Given the description of an element on the screen output the (x, y) to click on. 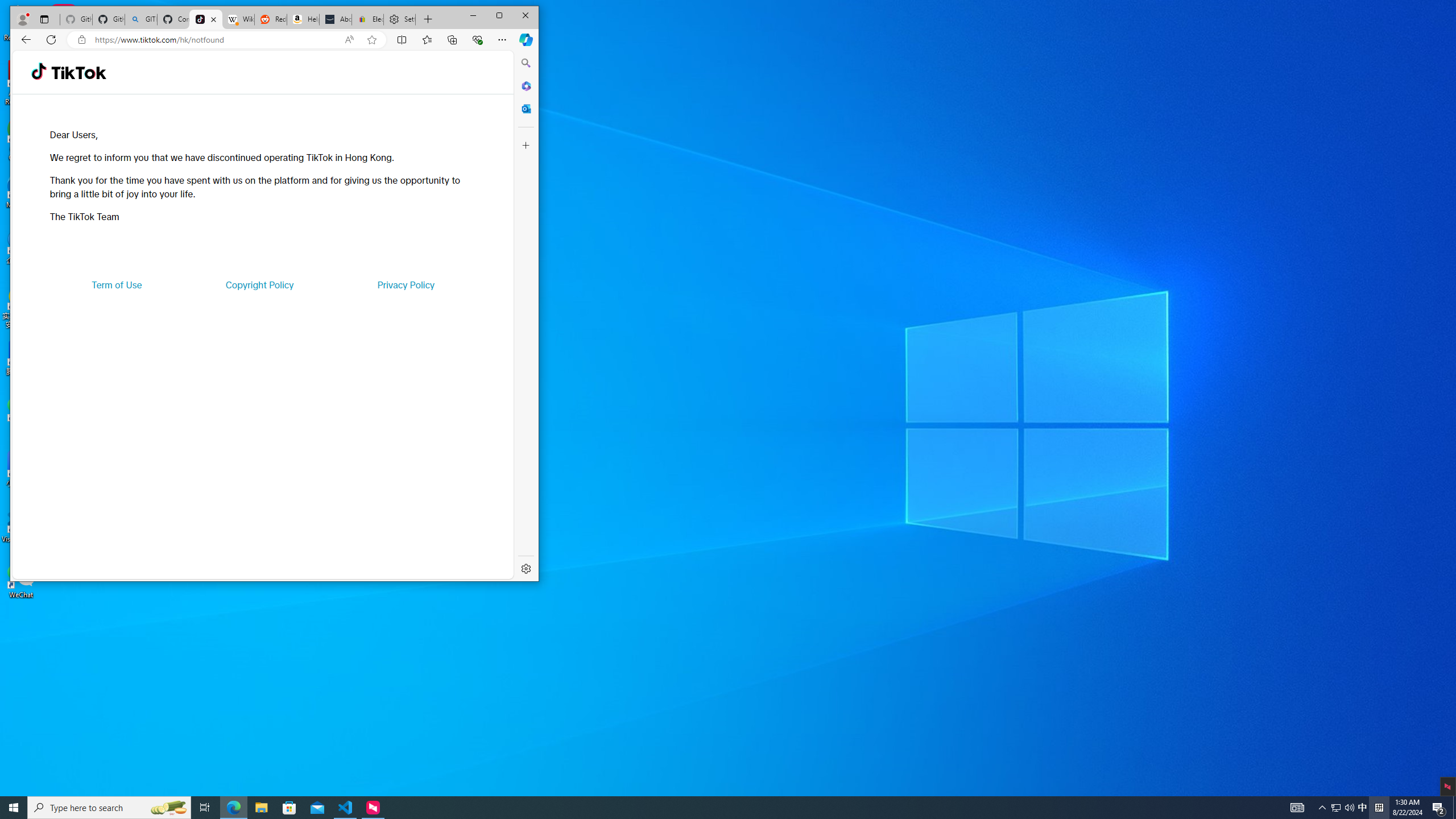
Visual Studio Code - 1 running window (345, 807)
AutomationID: 4105 (1297, 807)
Copyright Policy (259, 284)
About Amazon (335, 19)
Q2790: 100% (1349, 807)
Show desktop (1454, 807)
